Given the description of an element on the screen output the (x, y) to click on. 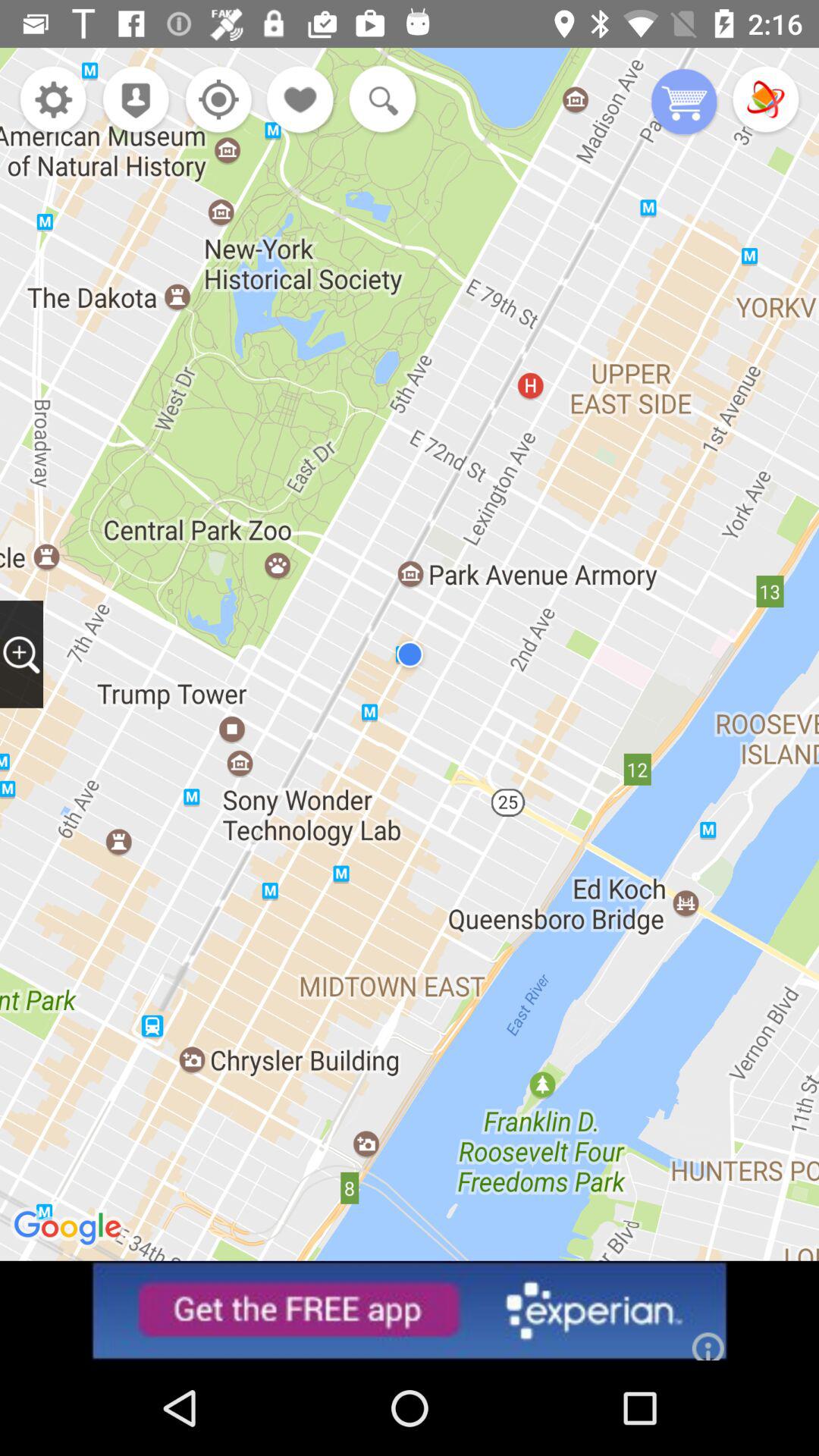
zoom in (21, 654)
